Given the description of an element on the screen output the (x, y) to click on. 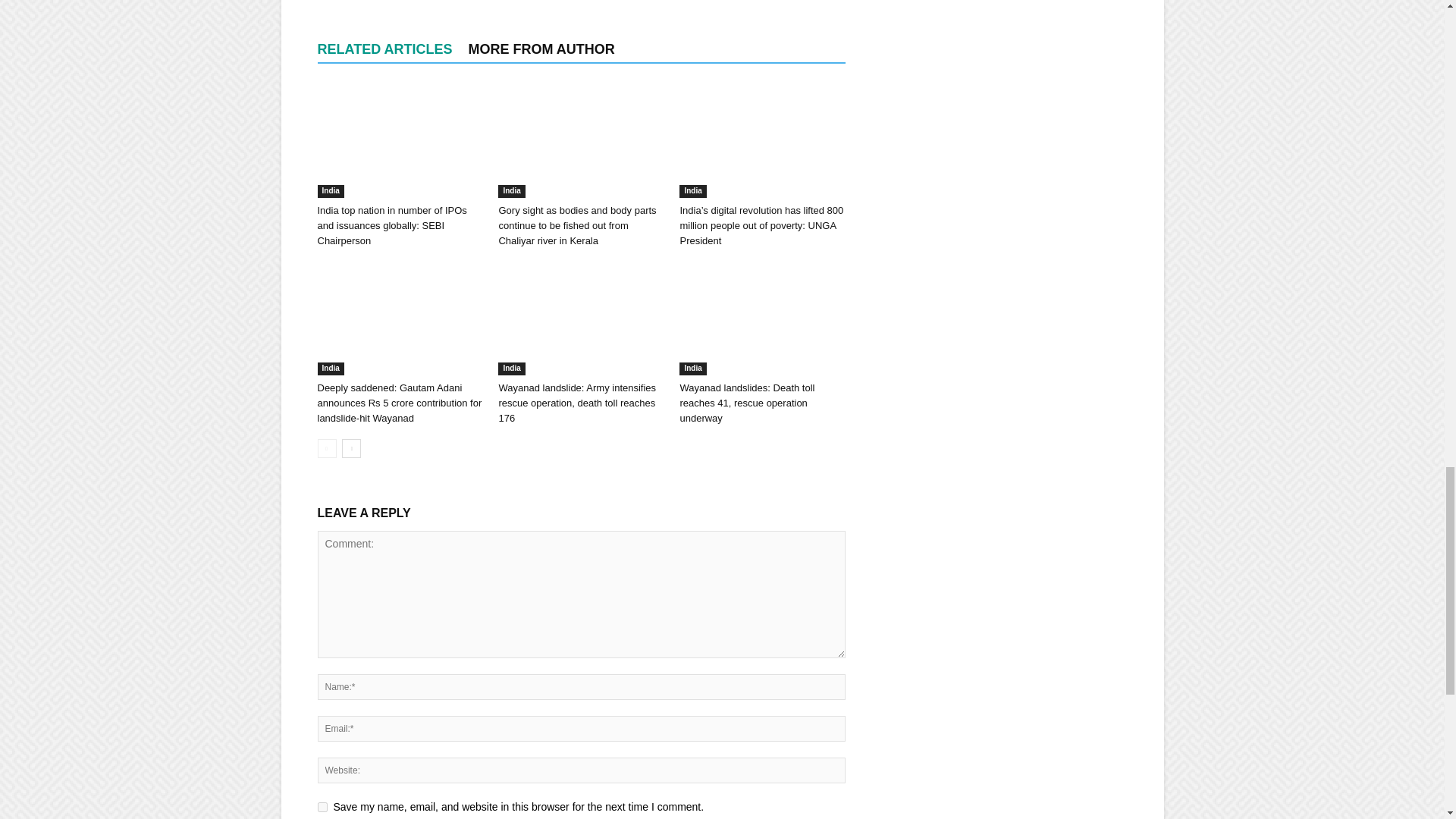
yes (321, 807)
